Given the description of an element on the screen output the (x, y) to click on. 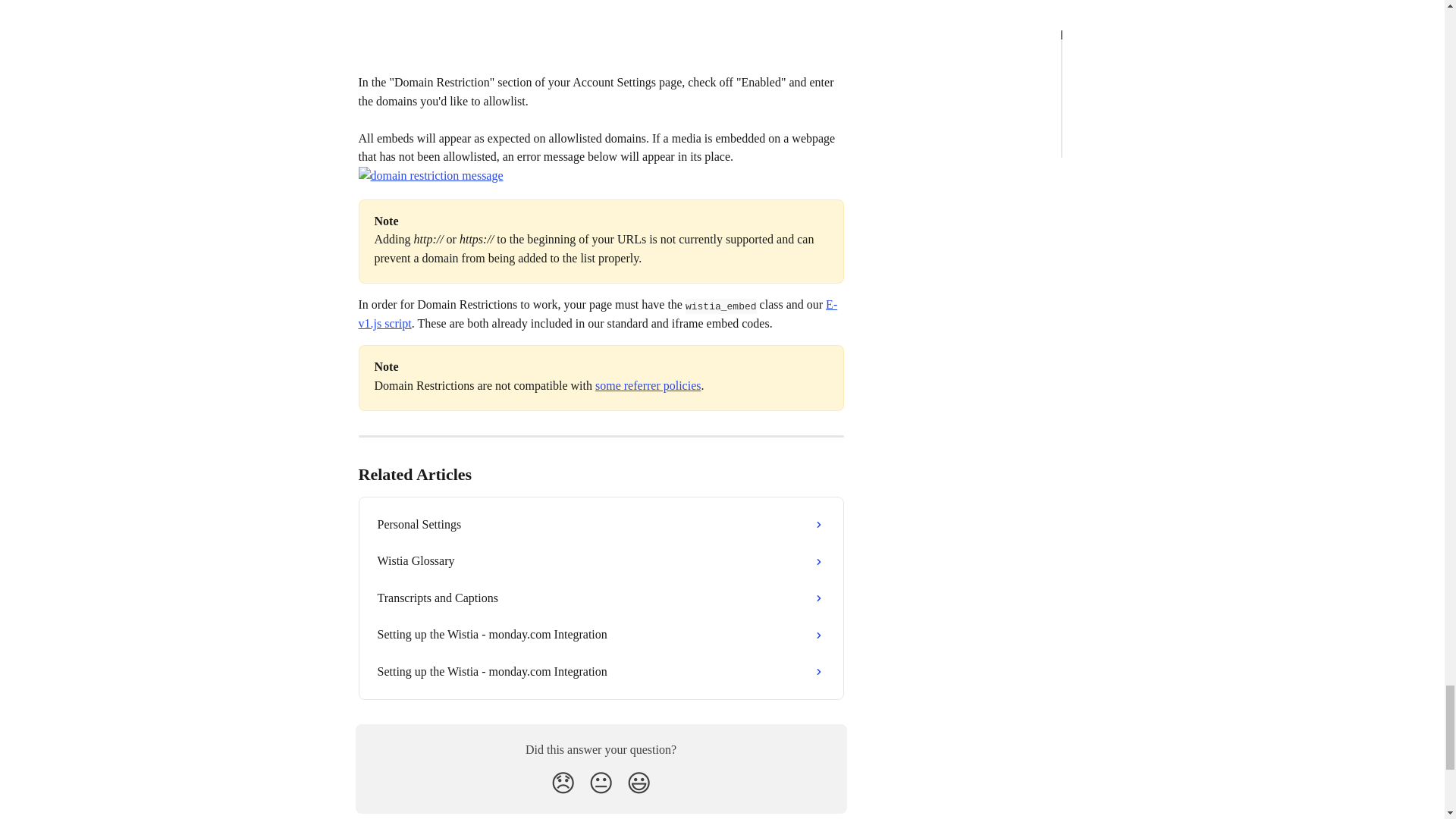
Neutral (600, 782)
Disappointed (562, 782)
Smiley (638, 782)
